Given the description of an element on the screen output the (x, y) to click on. 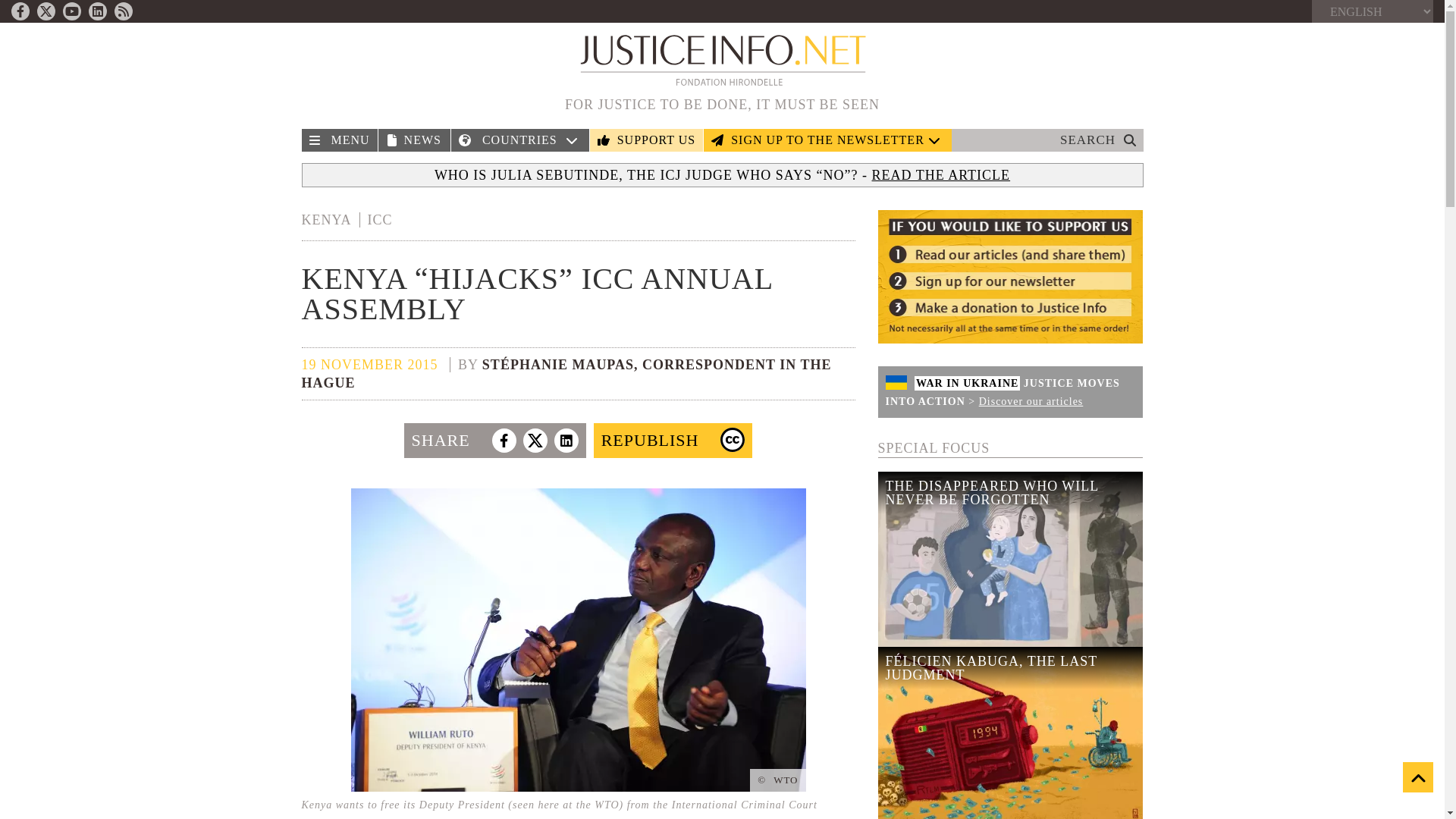
Facebook (20, 11)
Twitter (46, 11)
Youtube (71, 11)
LinkedIn (97, 11)
RSS (123, 11)
